Given the description of an element on the screen output the (x, y) to click on. 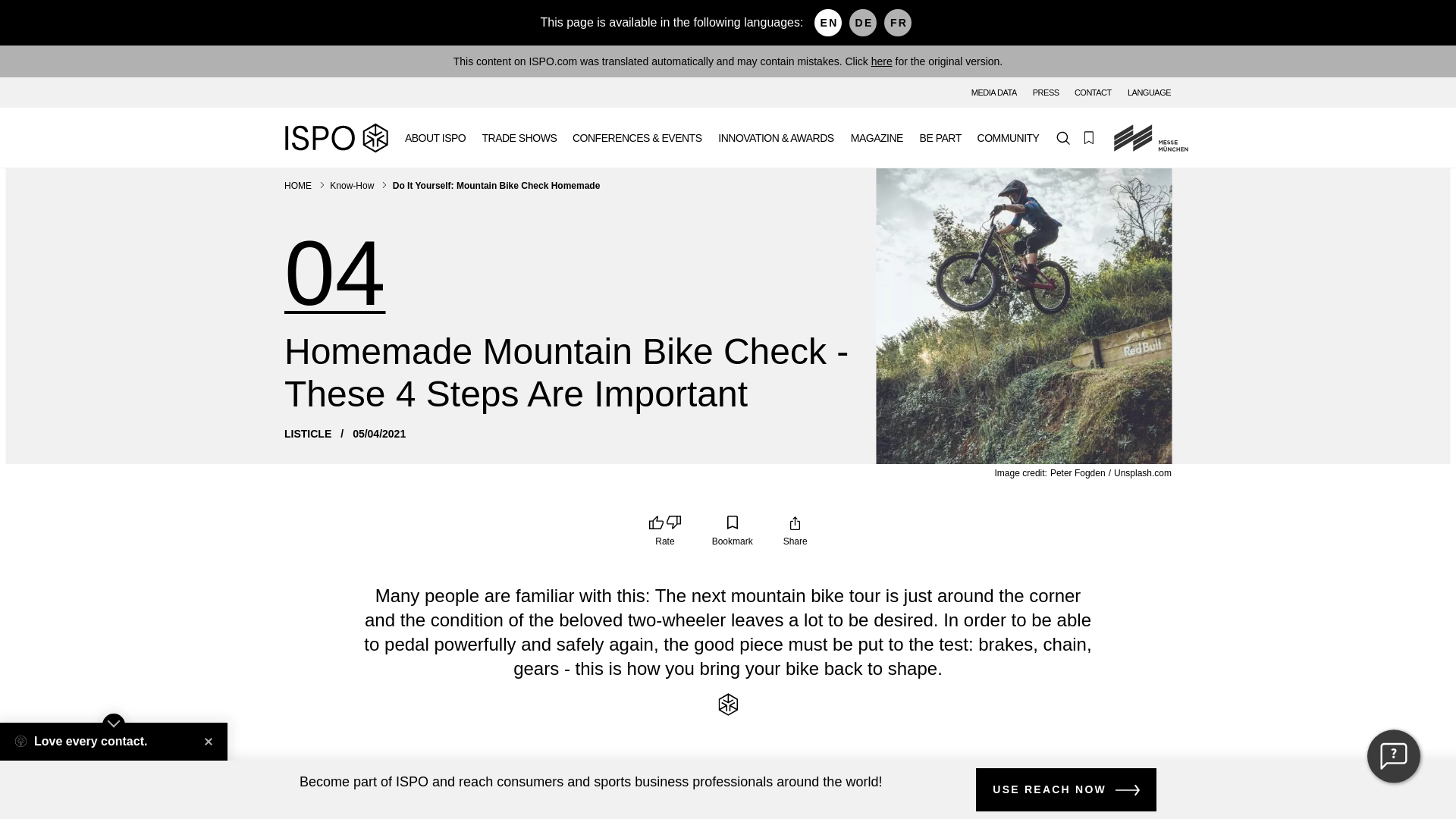
Bookmark (731, 531)
DE (862, 22)
MEDIA DATA (994, 91)
FR (897, 22)
CONTACT (1093, 91)
ISPO.com (335, 137)
here (881, 61)
ISPO.com (335, 137)
TRADE SHOWS (519, 137)
ABOUT ISPO (434, 137)
